Given the description of an element on the screen output the (x, y) to click on. 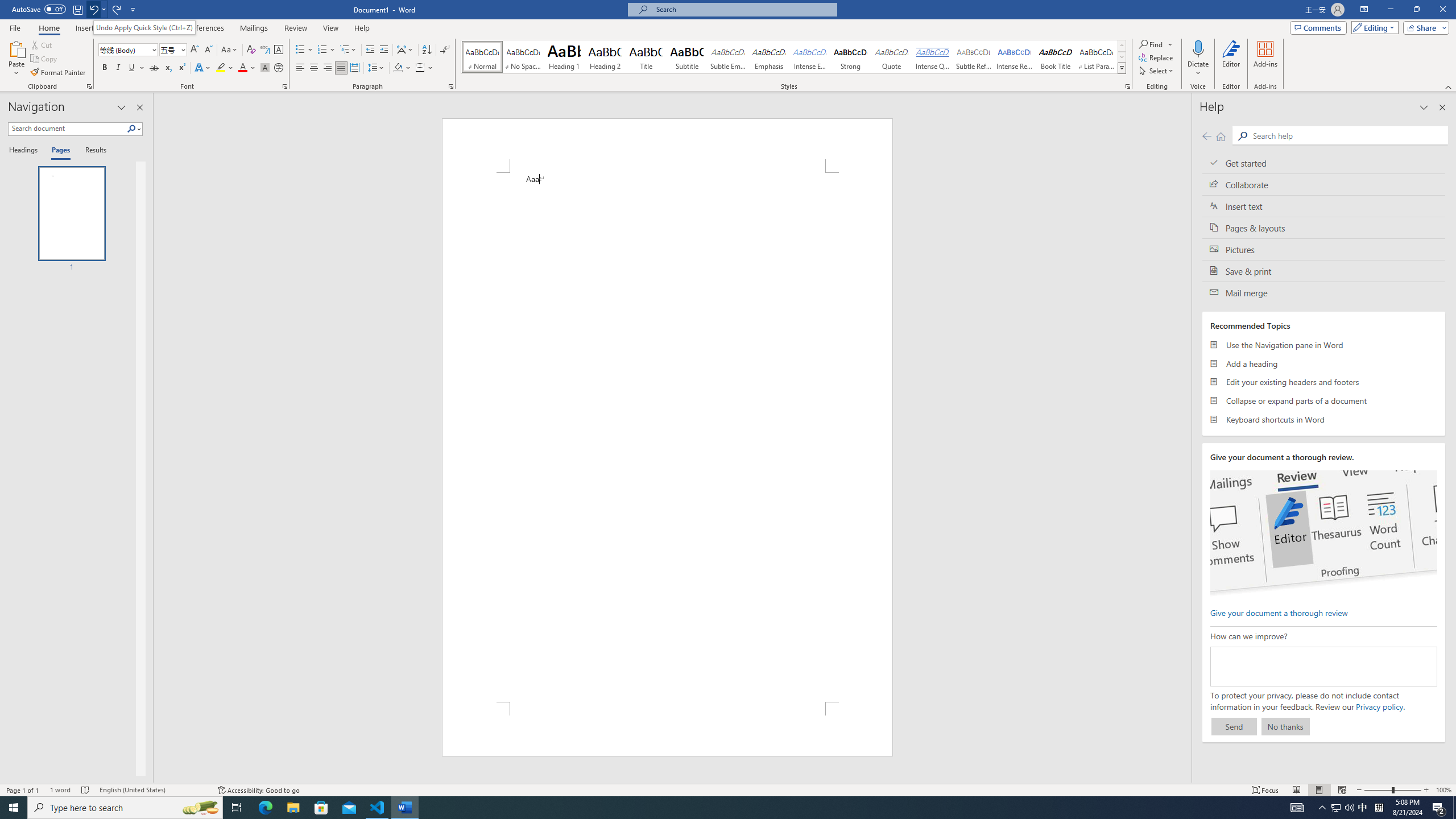
Send (1233, 726)
How can we improve? (1323, 666)
